Given the description of an element on the screen output the (x, y) to click on. 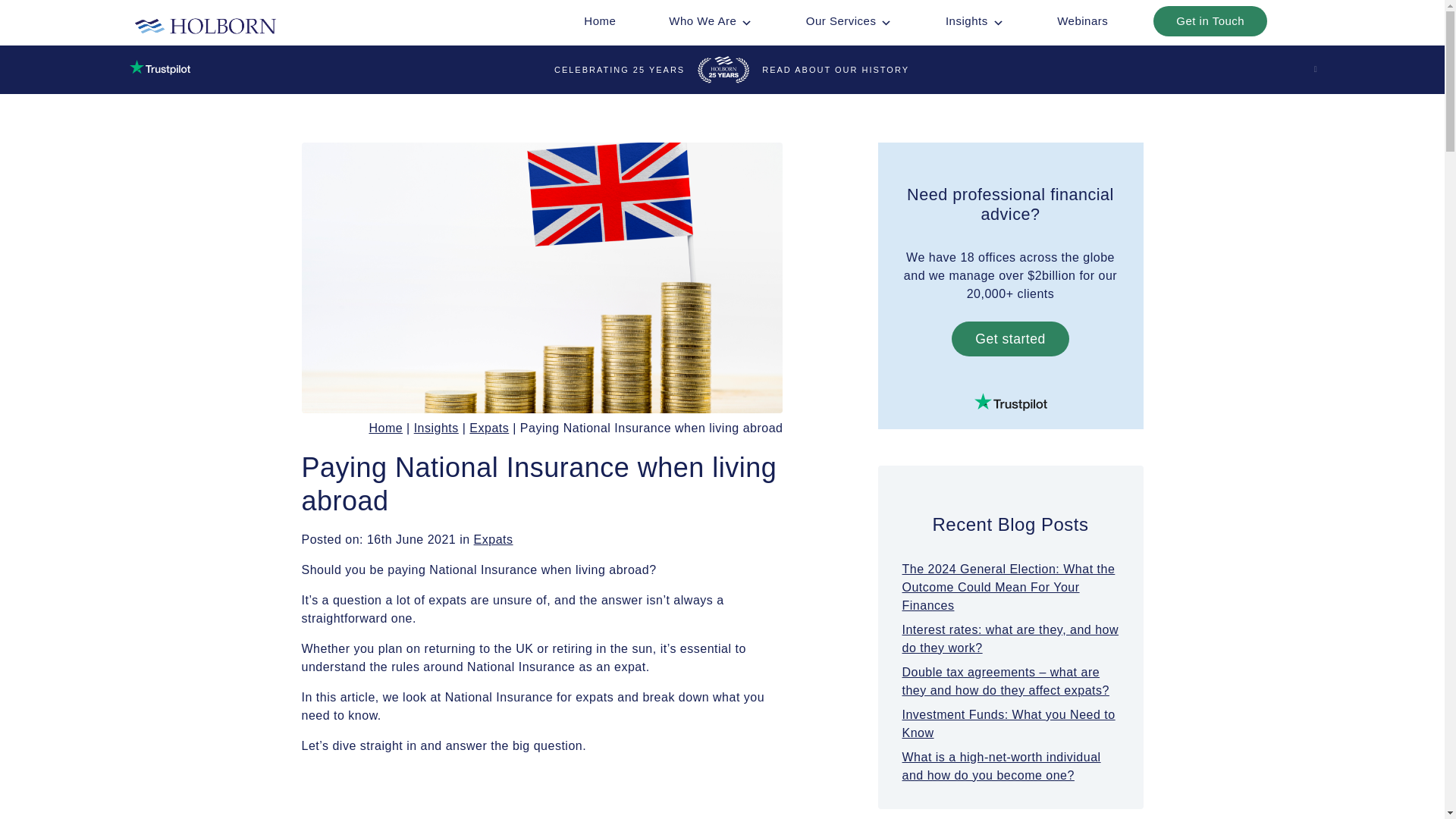
View all (493, 539)
Insights (974, 20)
Our Services (848, 20)
Home (599, 20)
Who We Are (710, 20)
Customer reviews powered by Trustpilot (1010, 402)
